Given the description of an element on the screen output the (x, y) to click on. 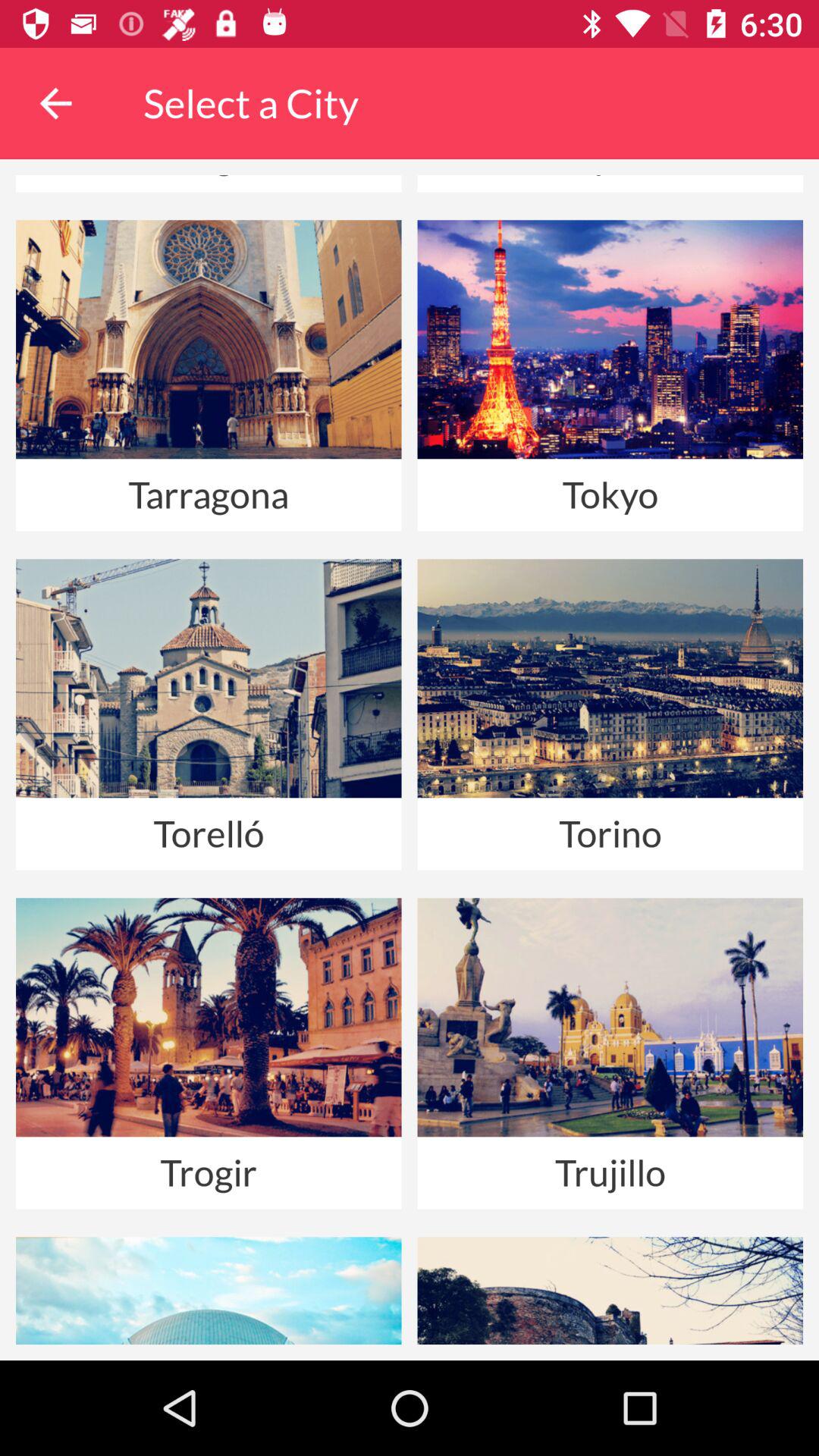
turn on item next to select a city (55, 103)
